Given the description of an element on the screen output the (x, y) to click on. 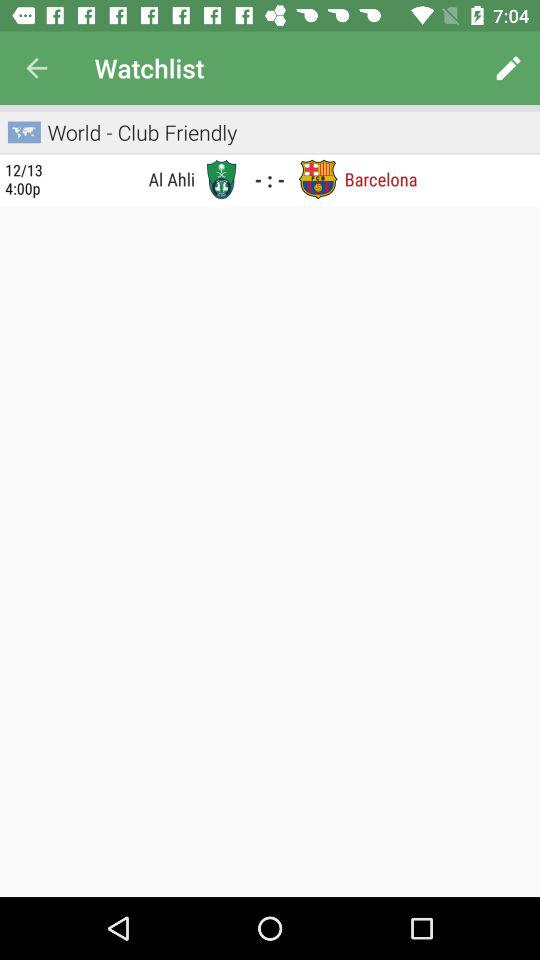
click the icon next to the 12 13 4 icon (125, 178)
